Given the description of an element on the screen output the (x, y) to click on. 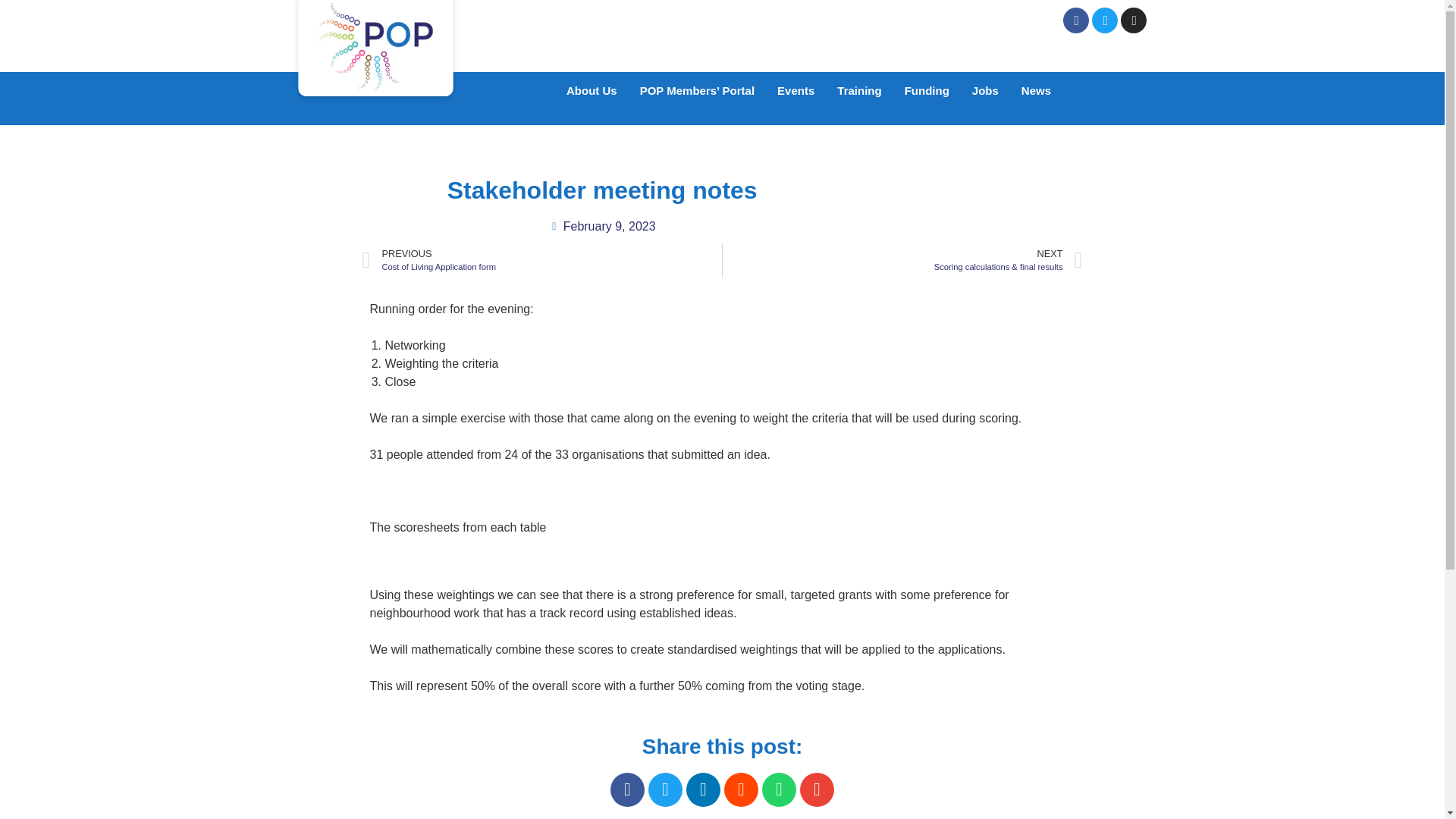
February 9, 2023 (602, 226)
Events (795, 90)
Funding (542, 260)
Training (926, 90)
News (858, 90)
About Us (1036, 90)
Jobs (591, 90)
